Given the description of an element on the screen output the (x, y) to click on. 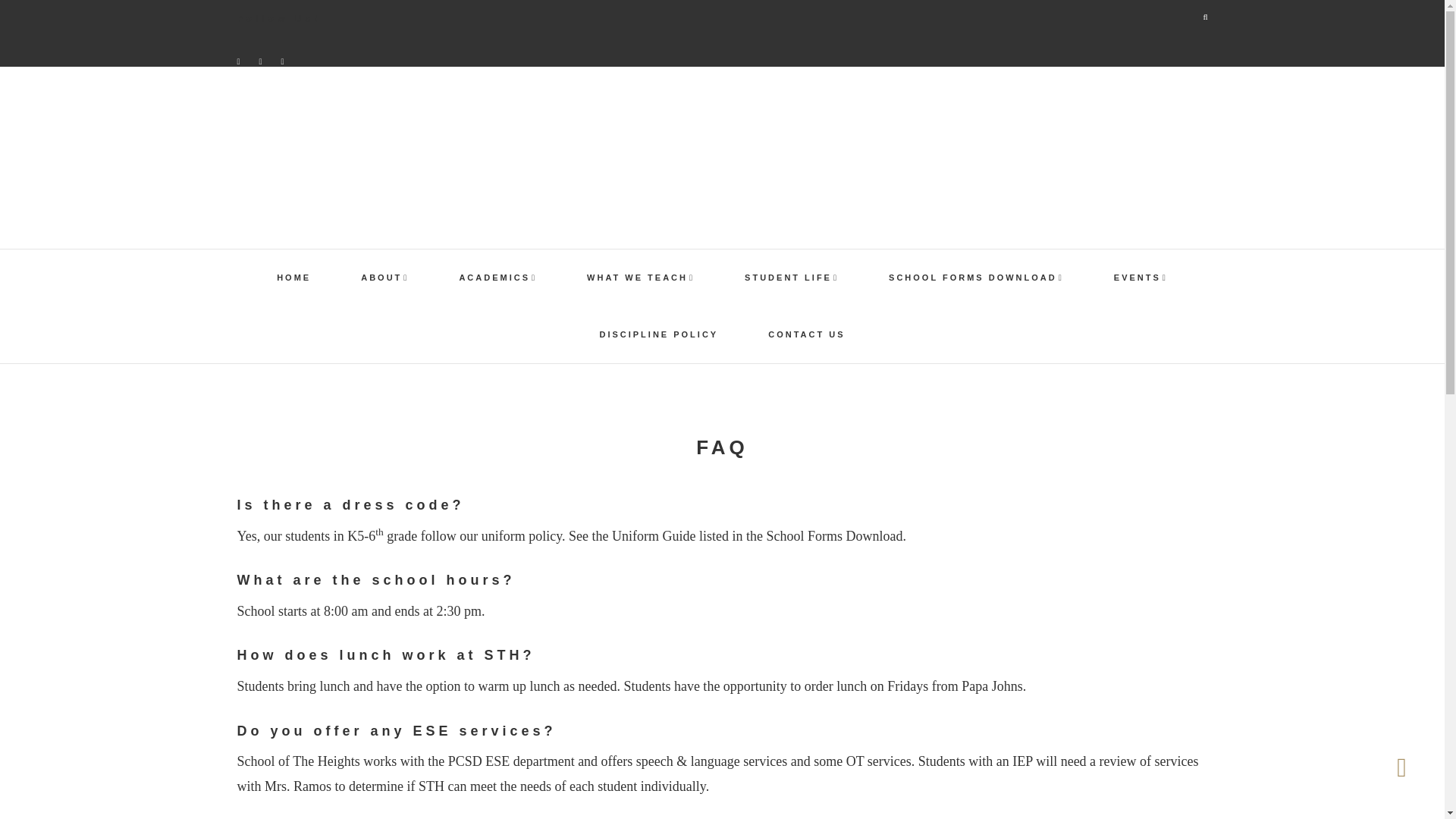
STUDENT LIFE (791, 277)
ABOUT (383, 277)
ACADEMICS (497, 277)
HOME (293, 277)
SCHOOL FORMS DOWNLOAD (976, 277)
WHAT WE TEACH (640, 277)
School of The Heights (721, 153)
